Given the description of an element on the screen output the (x, y) to click on. 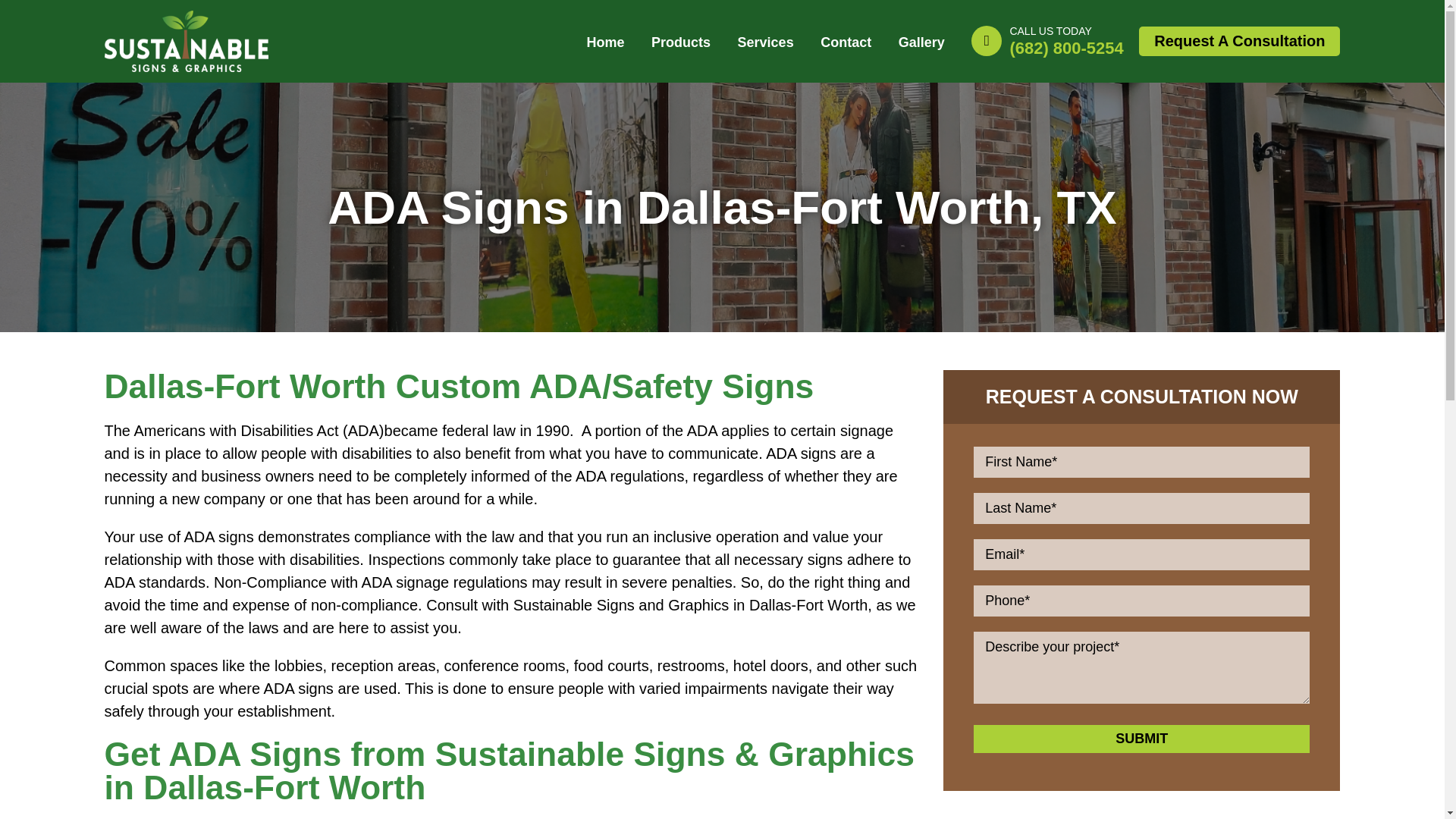
Sustainable Signs And Graphics (185, 21)
Products (681, 42)
Home (604, 42)
Submit (1141, 738)
